Given the description of an element on the screen output the (x, y) to click on. 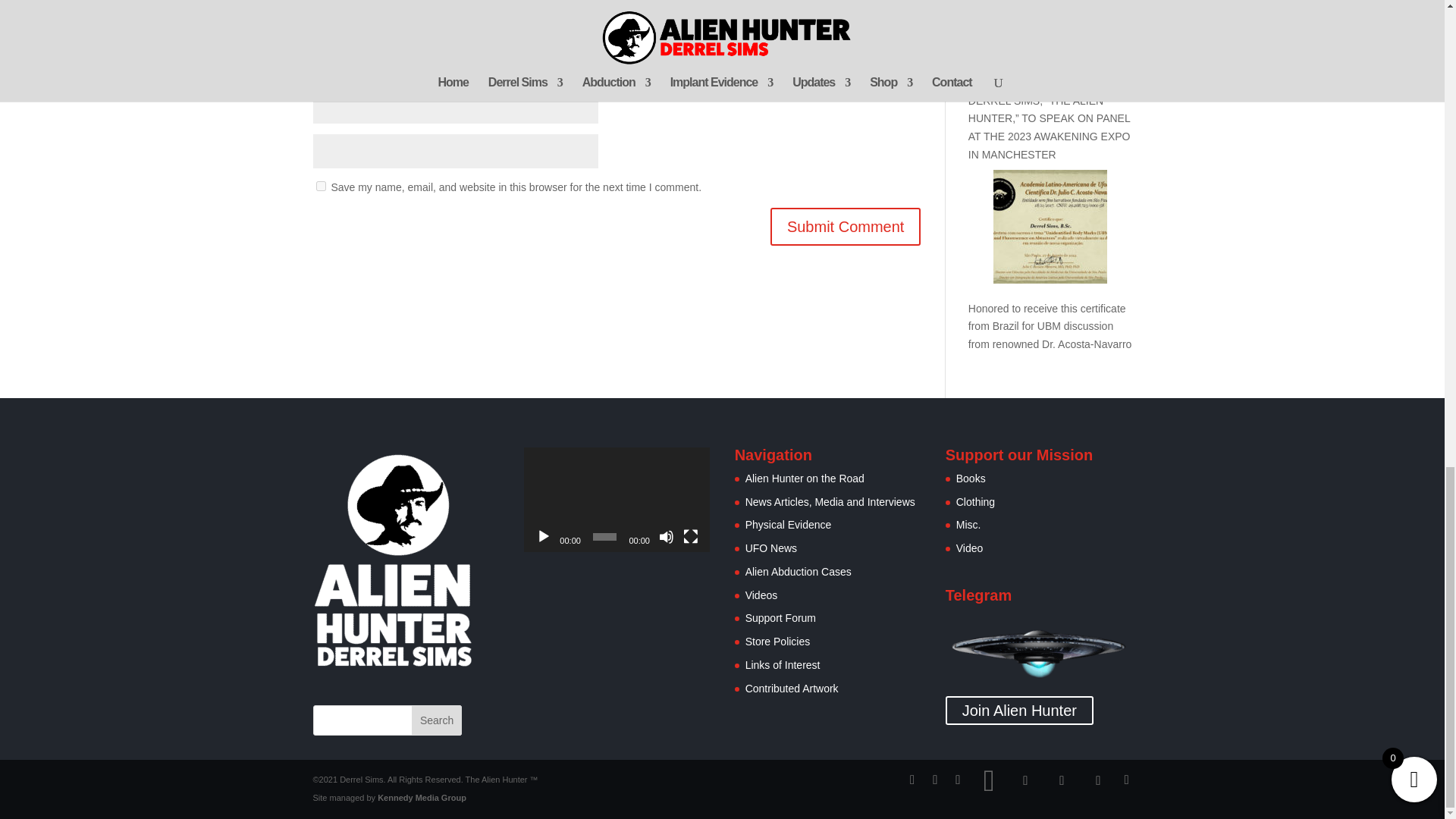
Search (436, 720)
Submit Comment (845, 226)
Mute (666, 536)
Play (543, 536)
yes (319, 185)
Fullscreen (690, 536)
ufo (1038, 650)
